Given the description of an element on the screen output the (x, y) to click on. 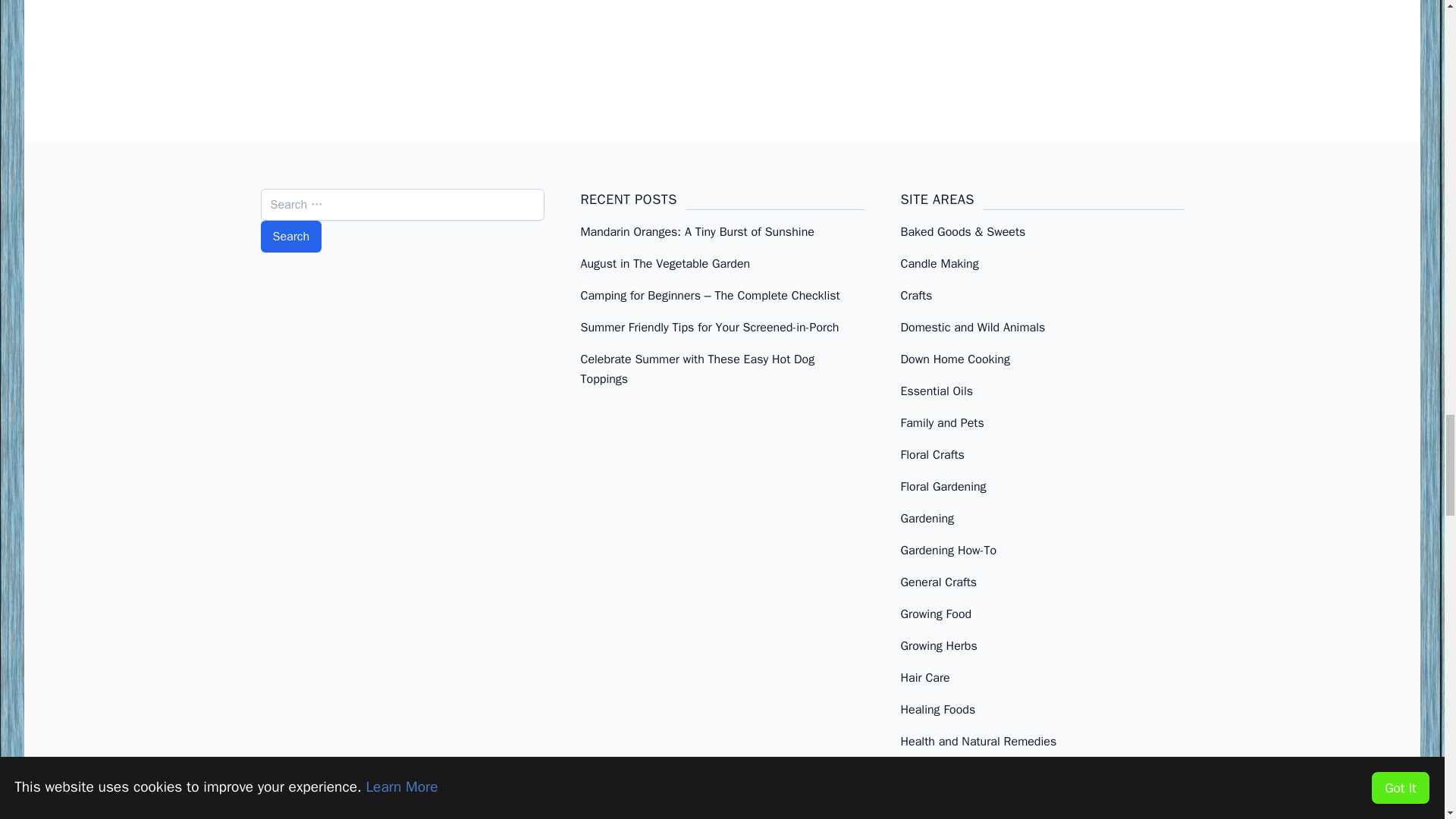
Advertisement (721, 66)
Search (290, 236)
Search (290, 236)
